Given the description of an element on the screen output the (x, y) to click on. 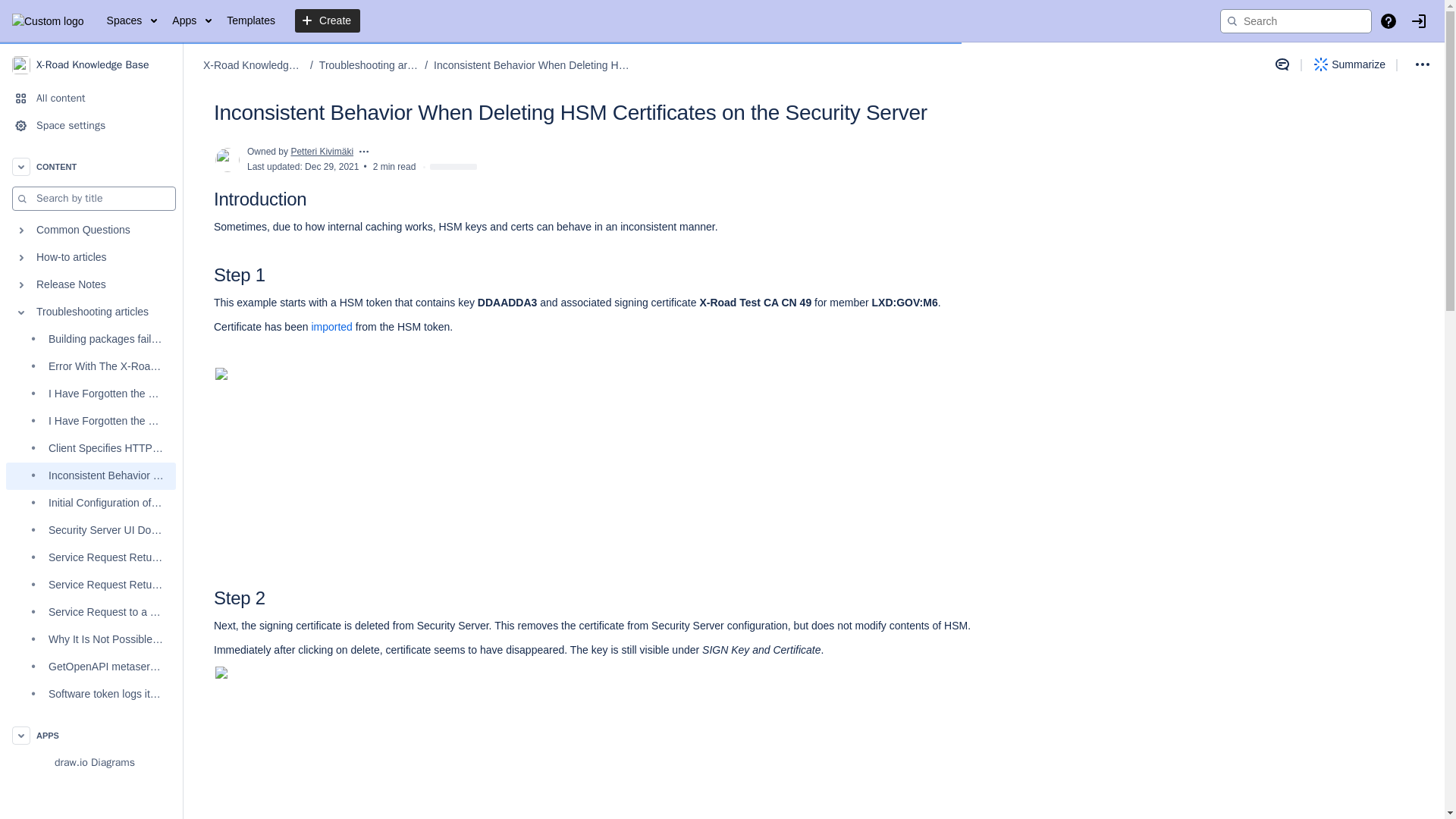
Troubleshooting articles (368, 64)
APPS (90, 735)
All content (90, 98)
Common Questions (90, 230)
Apps (191, 21)
CONTENT (90, 166)
Troubleshooting articles (90, 311)
X-Road Knowledge Base (90, 64)
Space settings (90, 125)
X-Road Knowledge Base (253, 64)
